Given the description of an element on the screen output the (x, y) to click on. 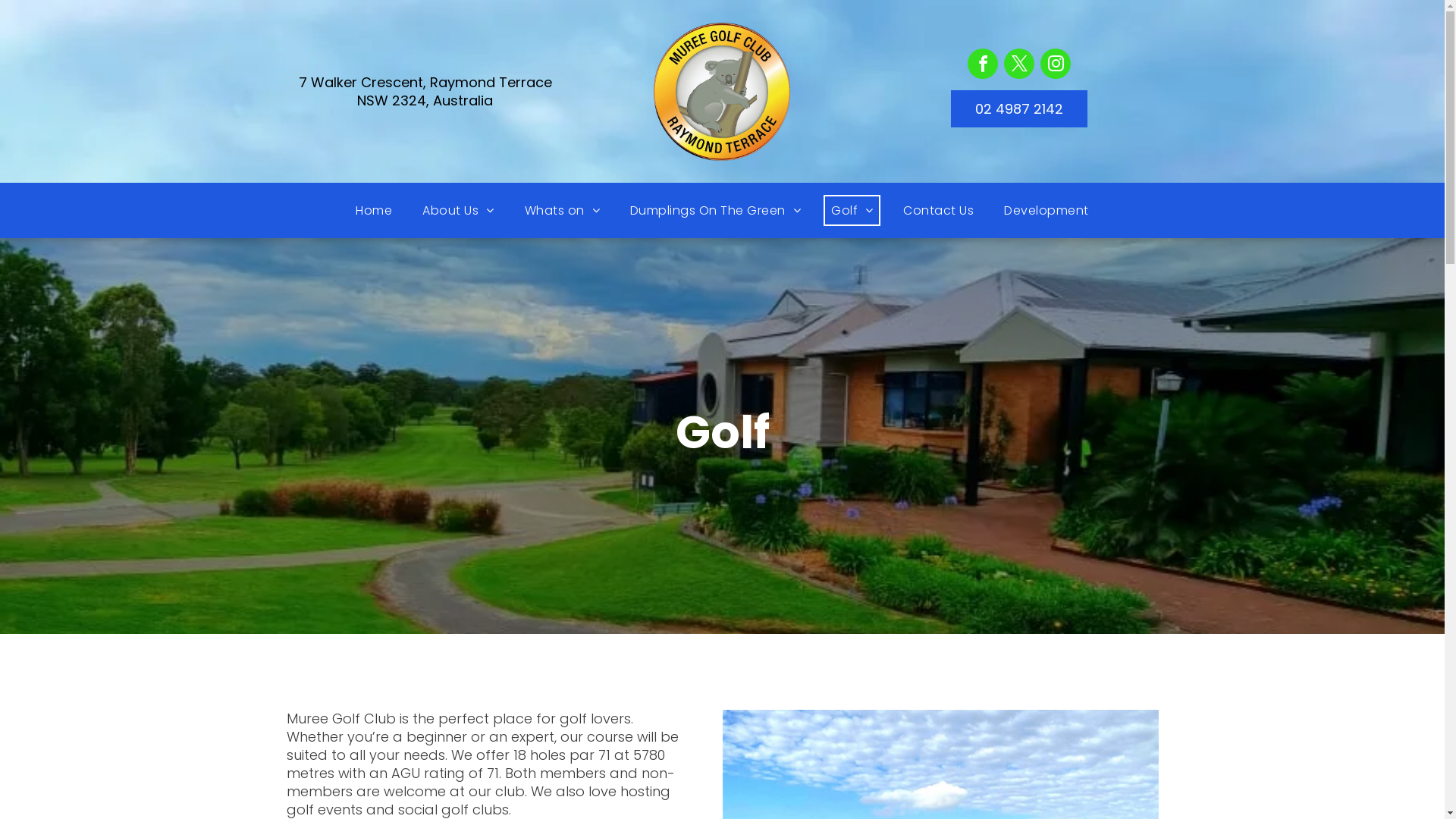
Whats on Element type: text (562, 209)
About Us Element type: text (457, 209)
Contact Us Element type: text (938, 209)
Dumplings On The Green Element type: text (715, 209)
7 Walker Crescent, Raymond Terrace NSW 2324, Australia Element type: text (425, 90)
02 4987 2142 Element type: text (1018, 107)
Home Element type: text (373, 209)
Golf Element type: text (851, 209)
Development Element type: text (1045, 209)
